Given the description of an element on the screen output the (x, y) to click on. 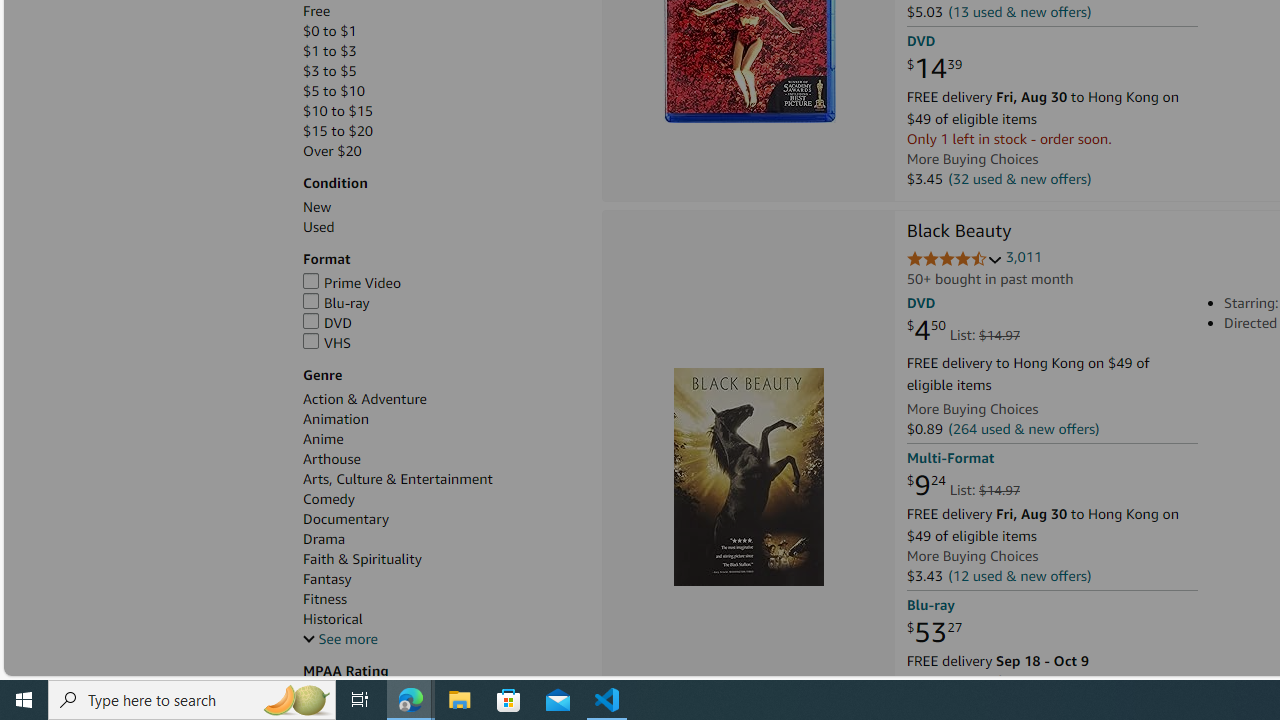
4.7 out of 5 stars (954, 259)
See more, Genre (340, 639)
$10 to $15 (442, 111)
Used (442, 227)
Multi-Format (950, 458)
Anime (442, 439)
$1 to $3 (330, 51)
VHS (327, 342)
New (442, 207)
$14.39 (934, 69)
$0 to $1 (330, 31)
$3 to $5 (330, 70)
(12 used & new offers) (1019, 574)
DVD (327, 322)
Black Beauty (749, 476)
